Given the description of an element on the screen output the (x, y) to click on. 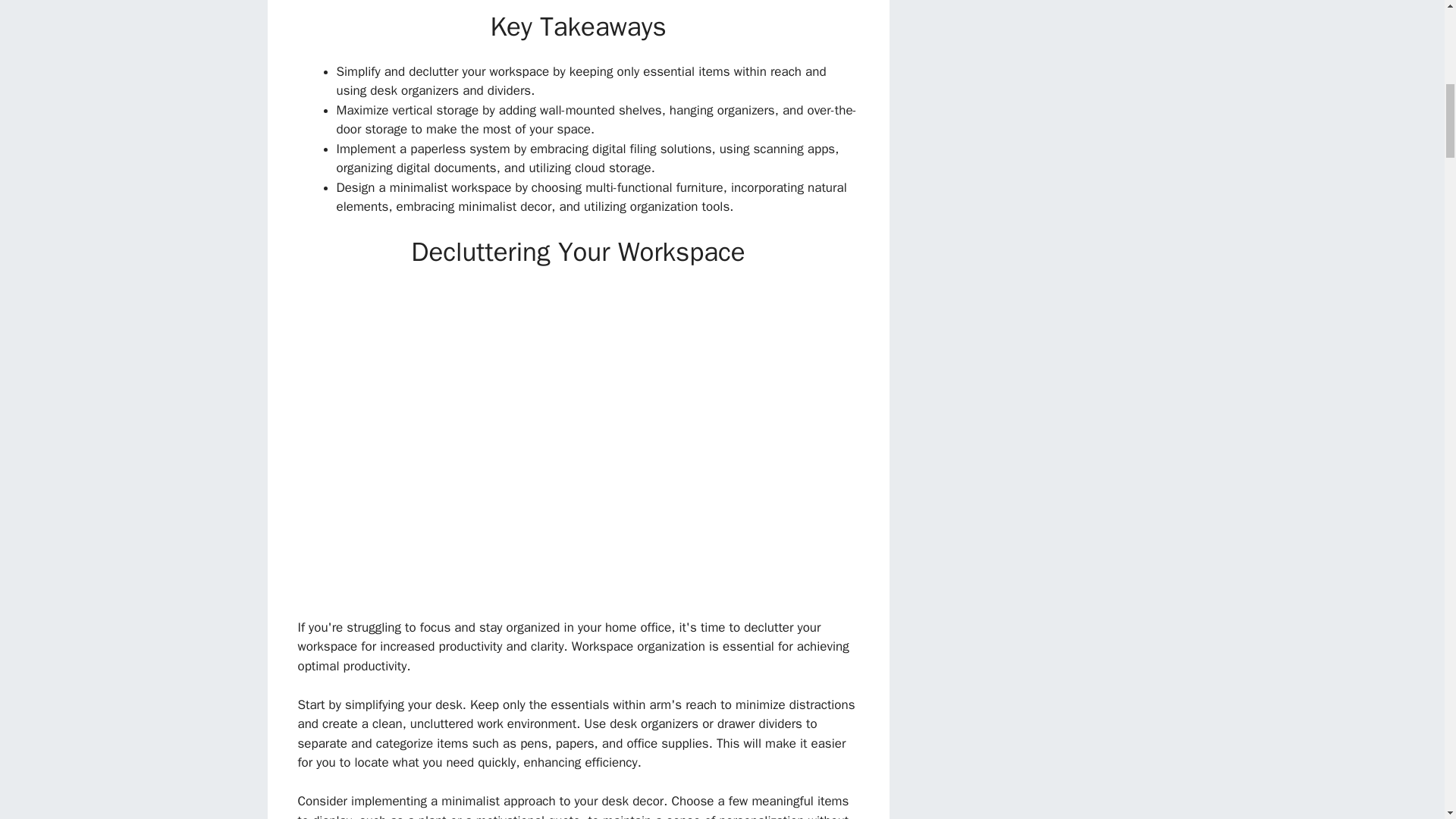
Scroll back to top (1406, 720)
